Given the description of an element on the screen output the (x, y) to click on. 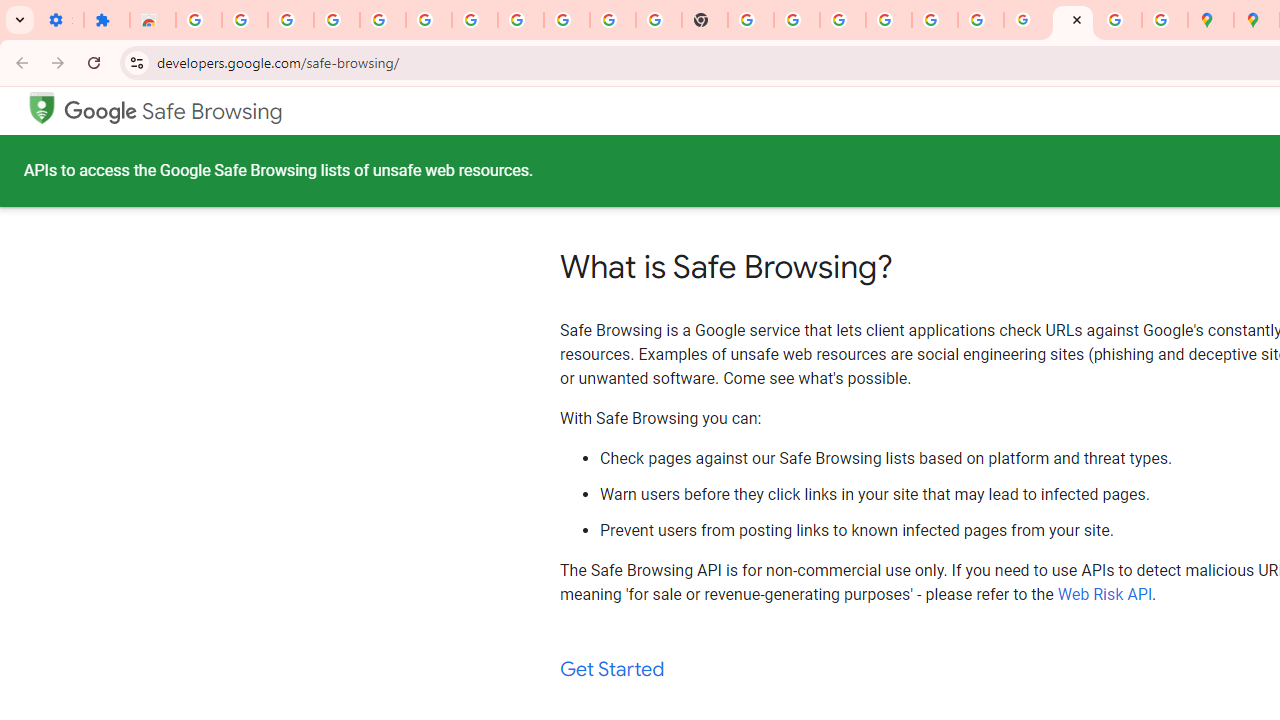
Sign in - Google Accounts (889, 20)
Google Account (567, 20)
Sign in - Google Accounts (474, 20)
Extensions (107, 20)
Delete photos & videos - Computer - Google Photos Help (336, 20)
https://scholar.google.com/ (751, 20)
Learn how to find your photos - Google Photos Help (382, 20)
Settings - On startup (60, 20)
YouTube (613, 20)
Google Safe Browsing (173, 111)
